Given the description of an element on the screen output the (x, y) to click on. 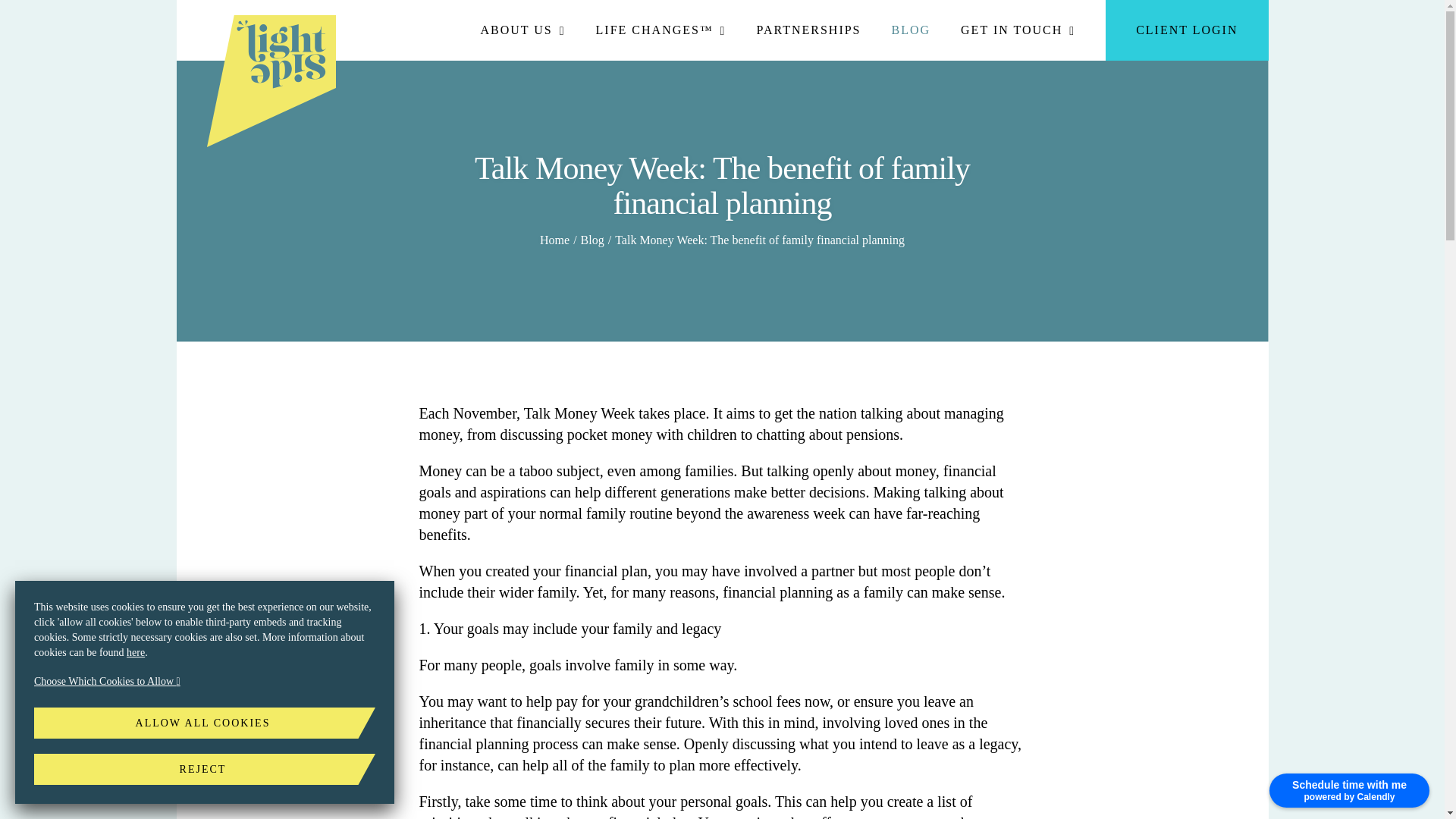
ABOUT US (522, 30)
PARTNERSHIPS (807, 30)
GET IN TOUCH (1017, 30)
CLIENT LOGIN (1186, 30)
